Given the description of an element on the screen output the (x, y) to click on. 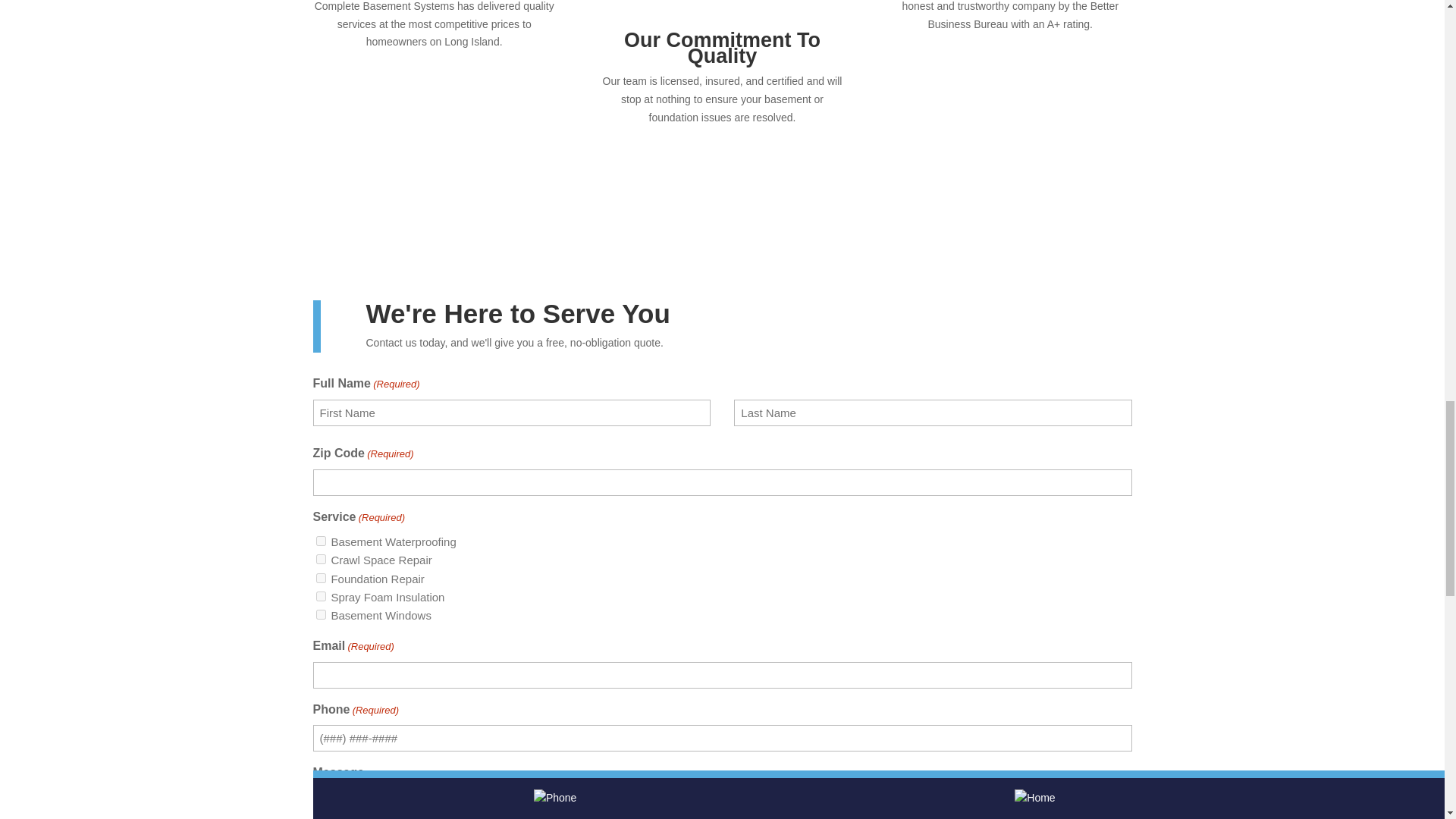
Foundation Repair (319, 578)
Basement Waterproofing (319, 541)
Basement Windows (319, 614)
Crawl Space Repair (319, 559)
Spray Foam Insulation (319, 596)
